Given the description of an element on the screen output the (x, y) to click on. 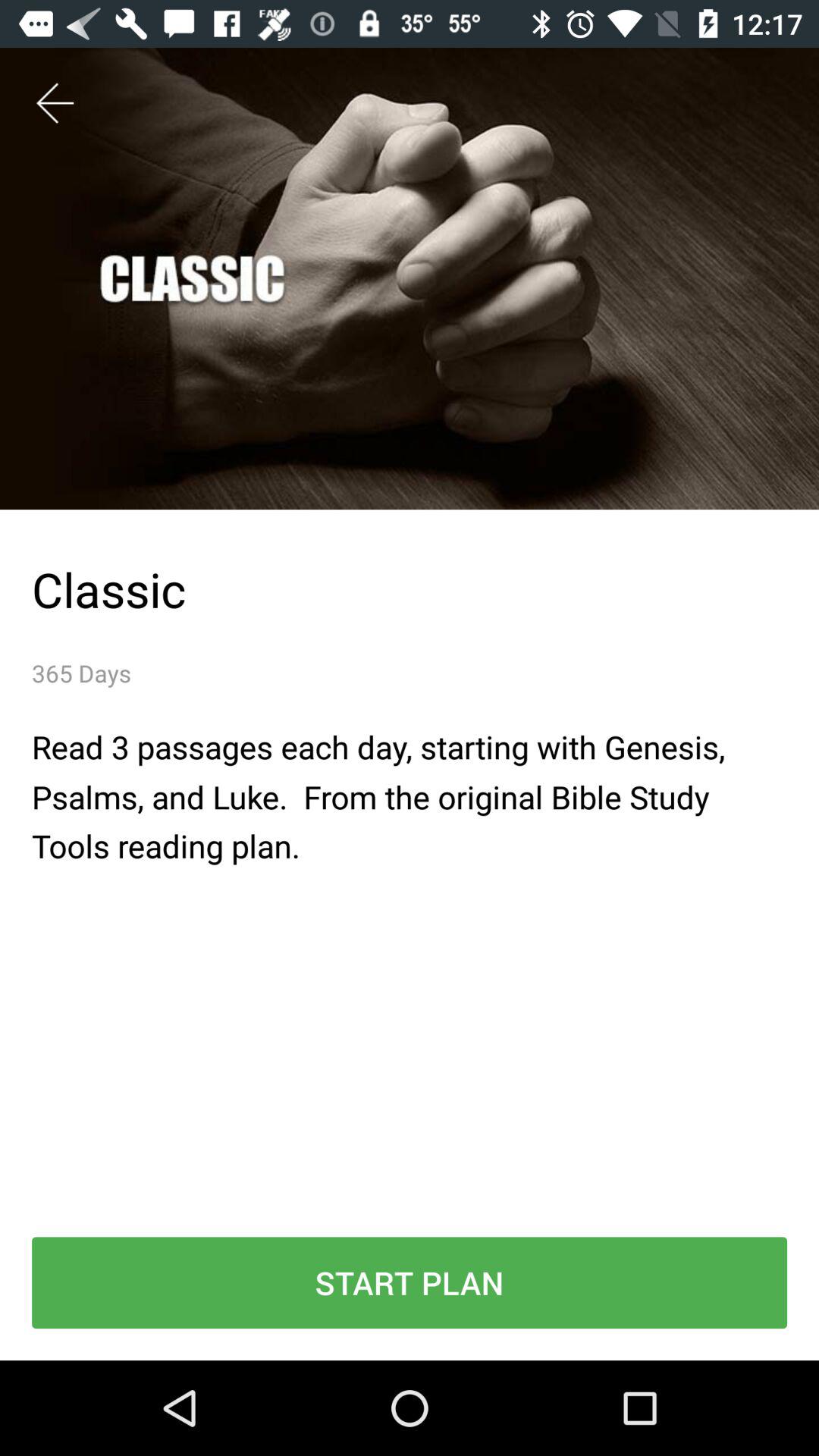
flip to start plan item (409, 1282)
